Given the description of an element on the screen output the (x, y) to click on. 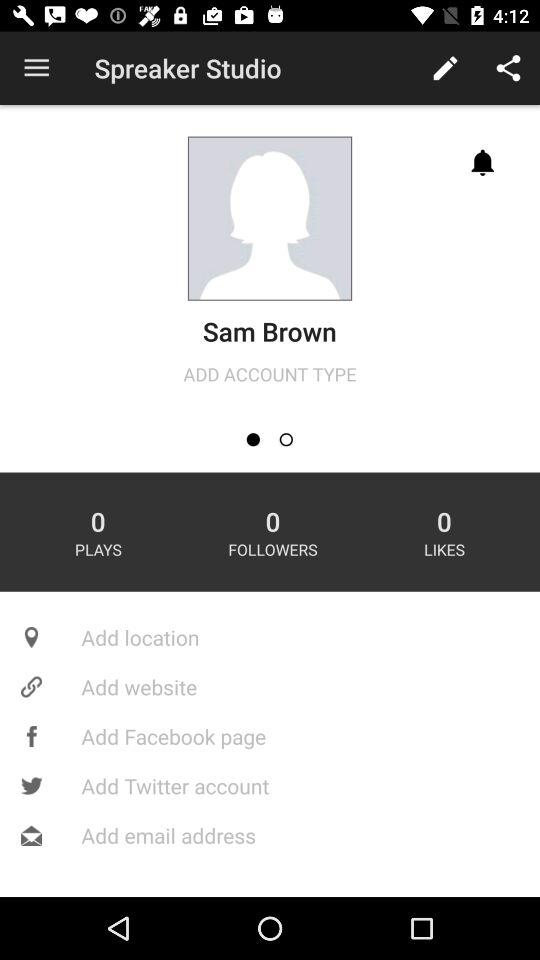
press item below add account type (285, 439)
